Given the description of an element on the screen output the (x, y) to click on. 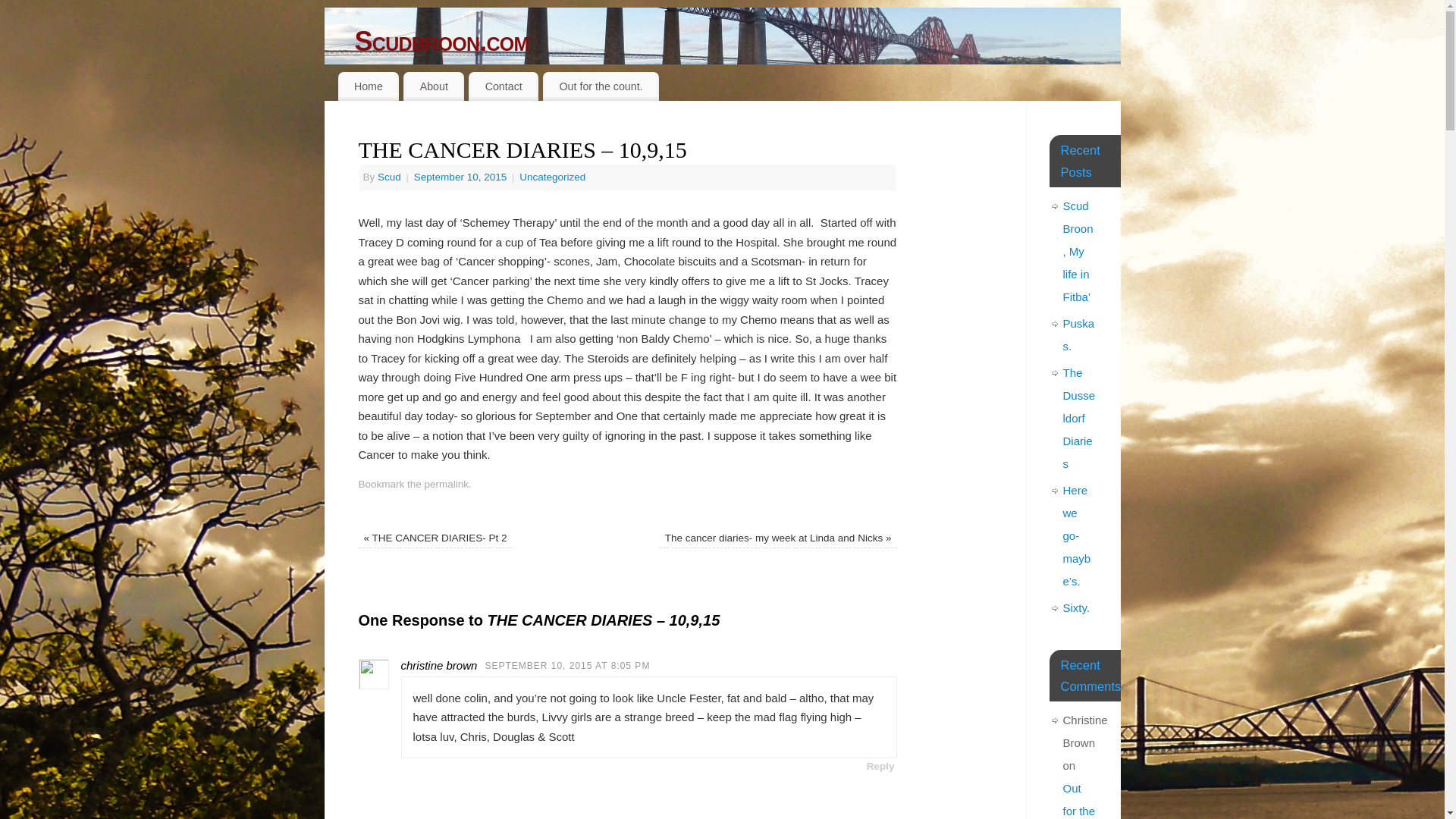
7:15 pm (461, 176)
Sixty. (1076, 607)
Puskas. (1078, 334)
SEPTEMBER 10, 2015 AT 8:05 PM (566, 665)
Out for the count. (601, 86)
September 10, 2015 (461, 176)
View all posts by Scud (389, 176)
Uncategorized (552, 176)
Reply (880, 766)
Scudbroon.com (738, 41)
